Given the description of an element on the screen output the (x, y) to click on. 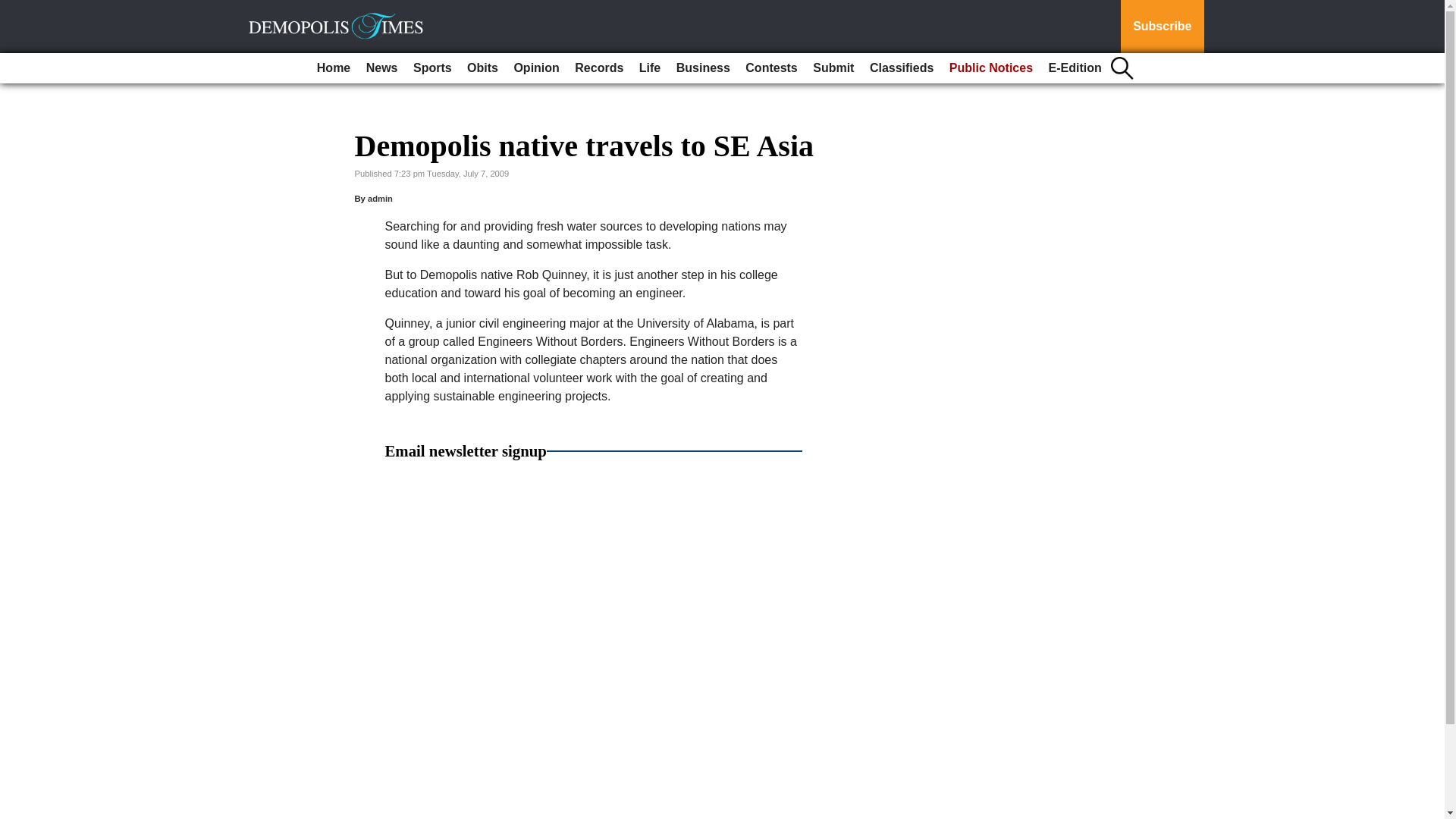
Submit (833, 68)
Subscribe (1162, 26)
Life (649, 68)
Home (333, 68)
E-Edition (1075, 68)
Go (13, 9)
Opinion (535, 68)
Records (598, 68)
Business (702, 68)
Sports (432, 68)
